Given the description of an element on the screen output the (x, y) to click on. 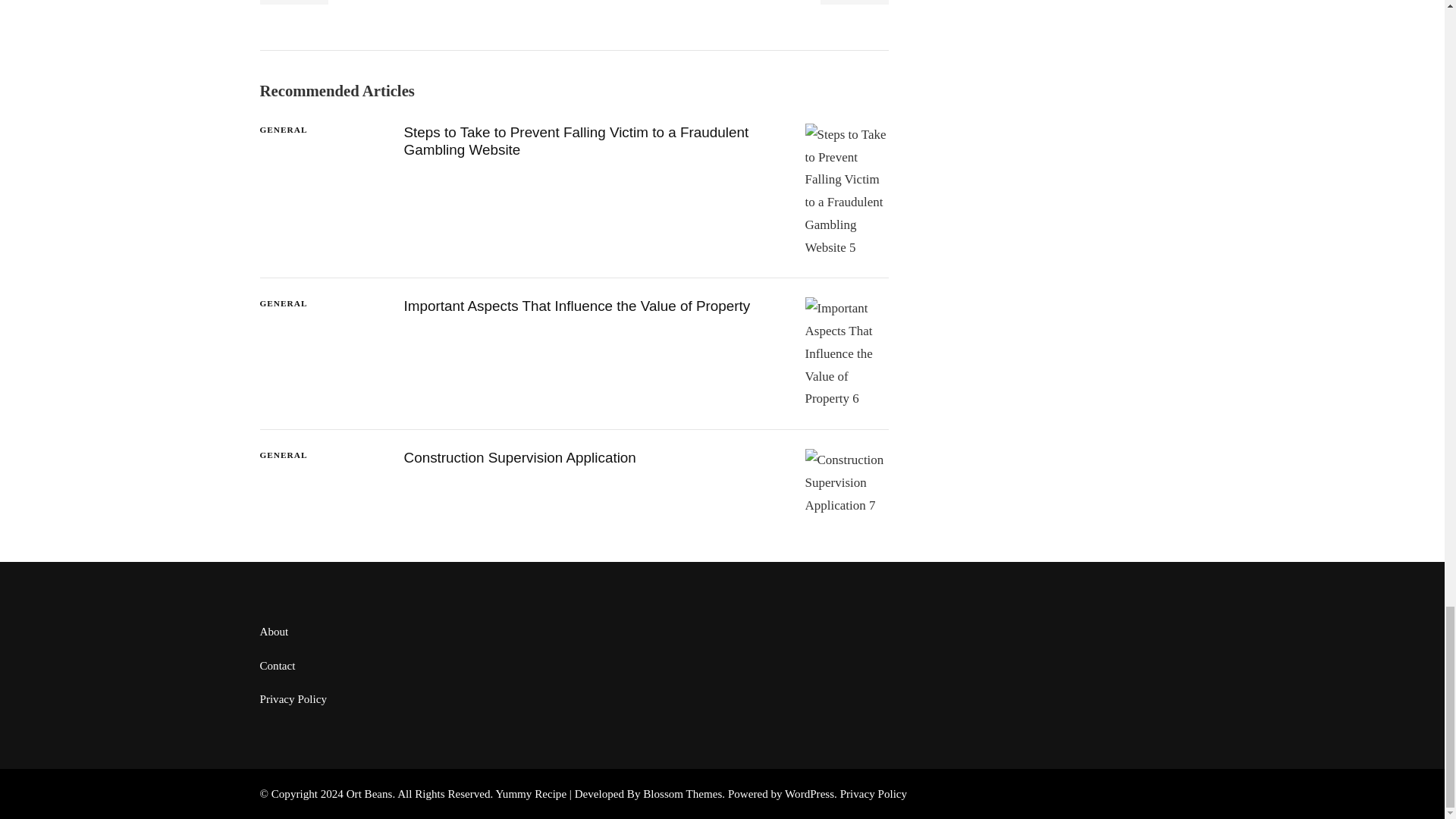
GENERAL (283, 454)
Construction Supervision Application (518, 457)
Important Aspects That Influence the Value of Property (576, 305)
GENERAL (283, 129)
GENERAL (283, 303)
